Given the description of an element on the screen output the (x, y) to click on. 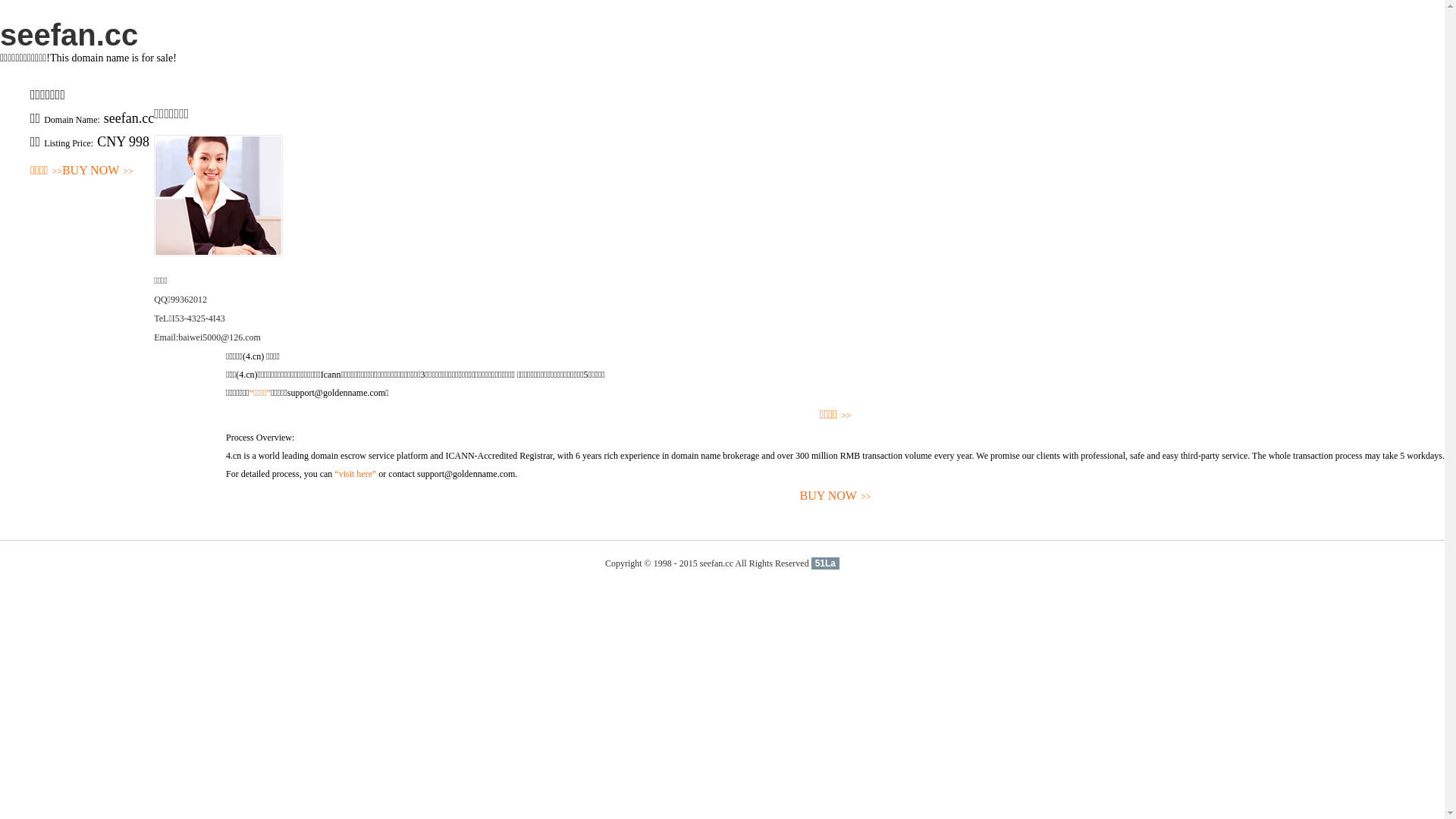
BUY NOW>> Element type: text (97, 170)
BUY NOW>> Element type: text (834, 496)
51La Element type: text (825, 563)
